Given the description of an element on the screen output the (x, y) to click on. 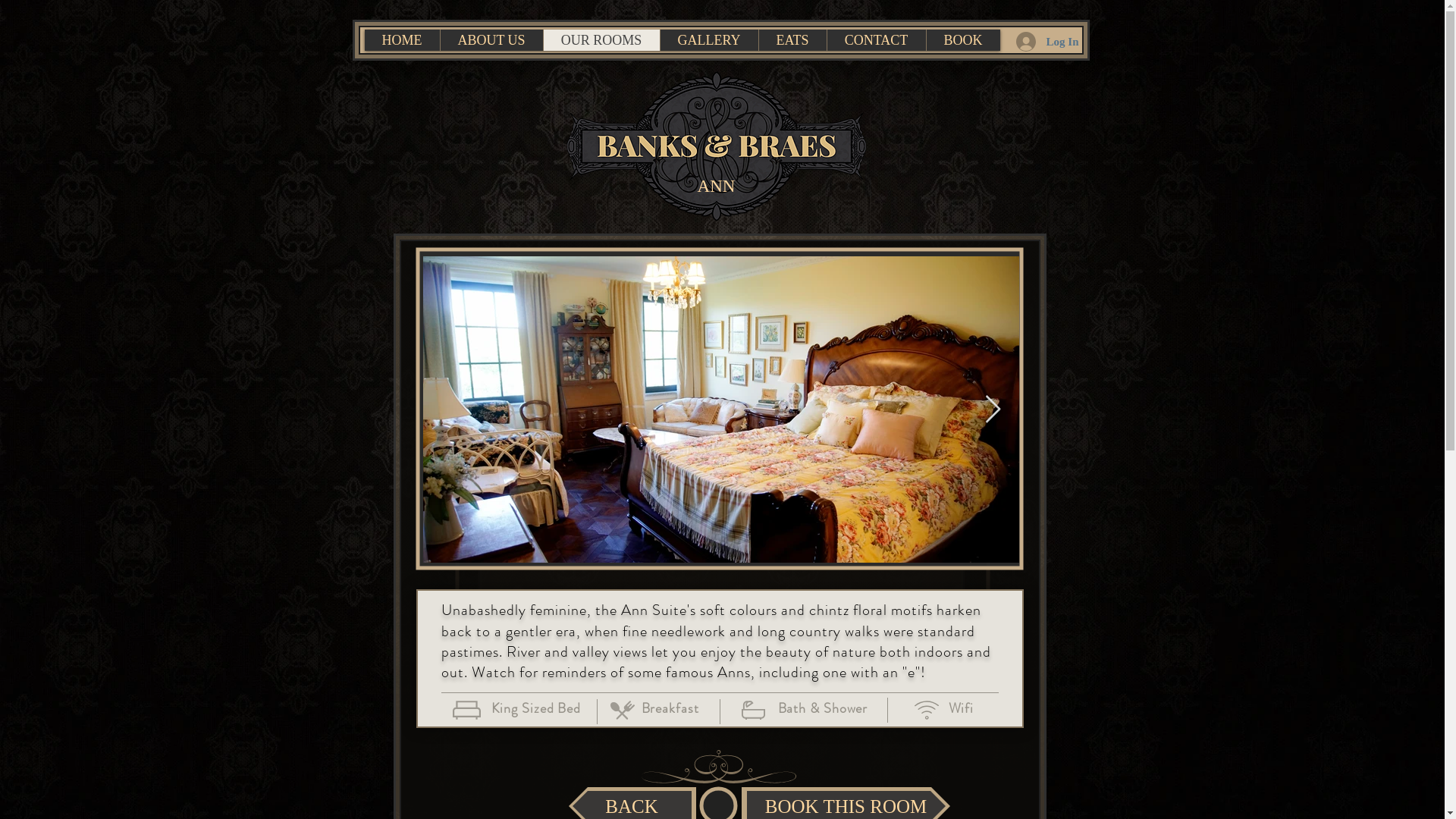
OUR ROOMS Element type: text (600, 39)
CONTACT Element type: text (875, 39)
Log In Element type: text (1047, 41)
EATS Element type: text (792, 39)
HOME Element type: text (401, 39)
ABOUT US Element type: text (490, 39)
GALLERY Element type: text (708, 39)
BOOK Element type: text (962, 39)
